Given the description of an element on the screen output the (x, y) to click on. 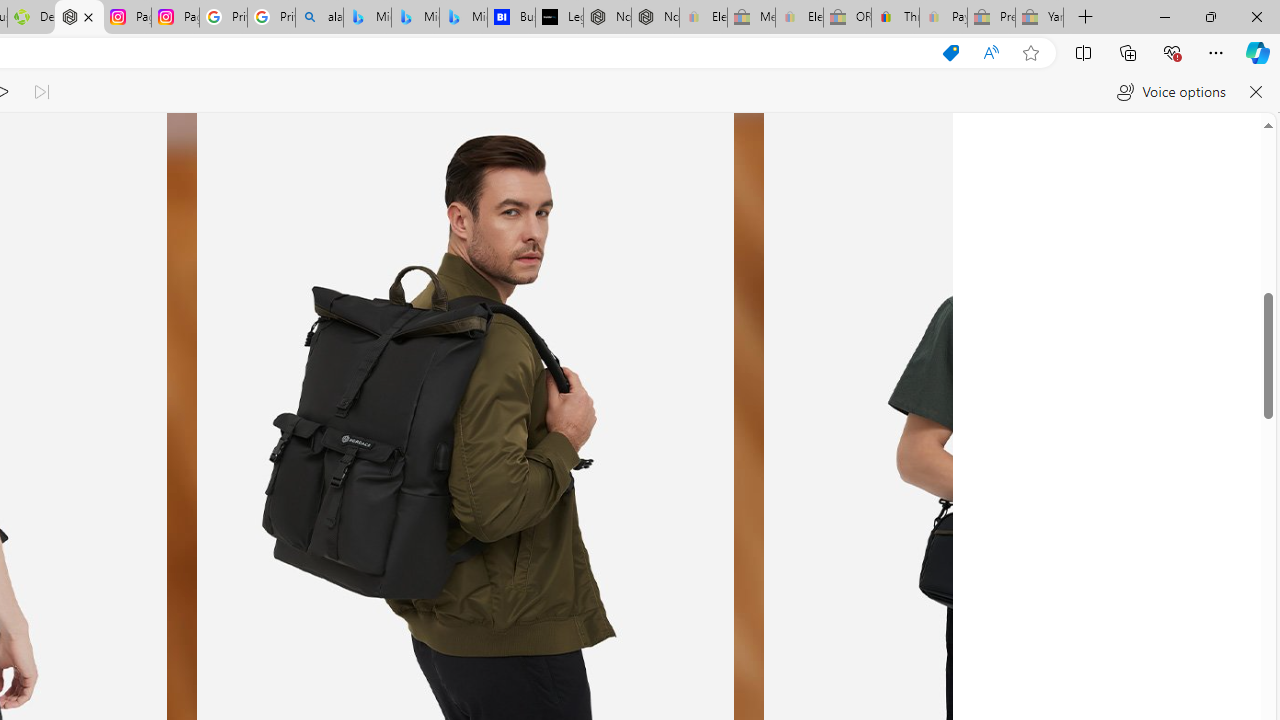
Minimize (1164, 16)
